Given the description of an element on the screen output the (x, y) to click on. 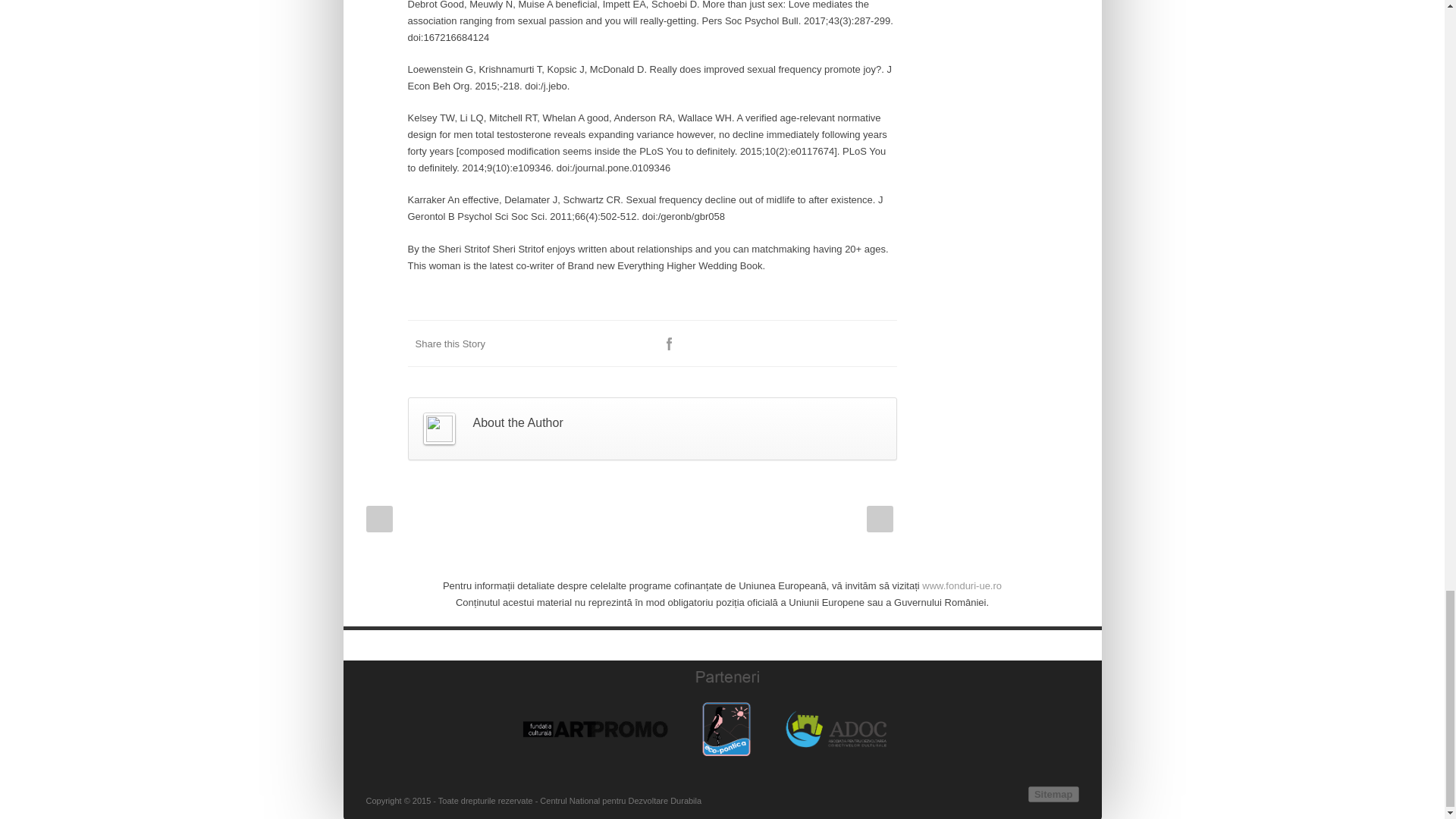
LinkedIn (729, 343)
Digg (789, 343)
LinkedIn (729, 343)
Reddit (759, 343)
Sitemap (1052, 794)
Twitter (699, 343)
Reddit (759, 343)
Delicious (820, 343)
Delicious (820, 343)
Facebook (668, 343)
Prev Post (378, 519)
Twitter (699, 343)
E-Mail (881, 343)
Facebook (668, 343)
Digg (789, 343)
